Given the description of an element on the screen output the (x, y) to click on. 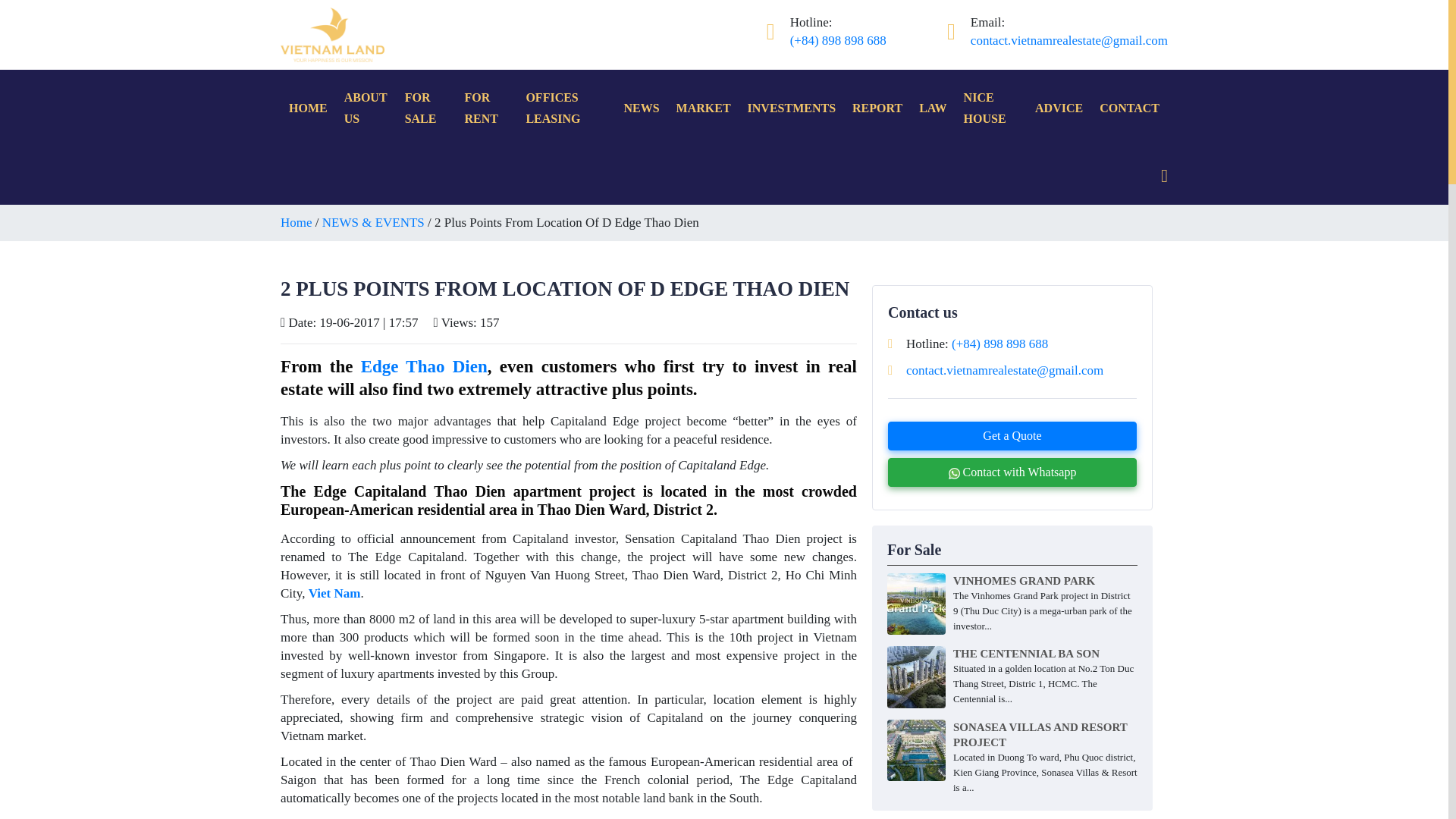
FOR SALE (426, 108)
Vietnam Real Estate (332, 33)
HOME (307, 108)
ABOUT US (365, 108)
